Given the description of an element on the screen output the (x, y) to click on. 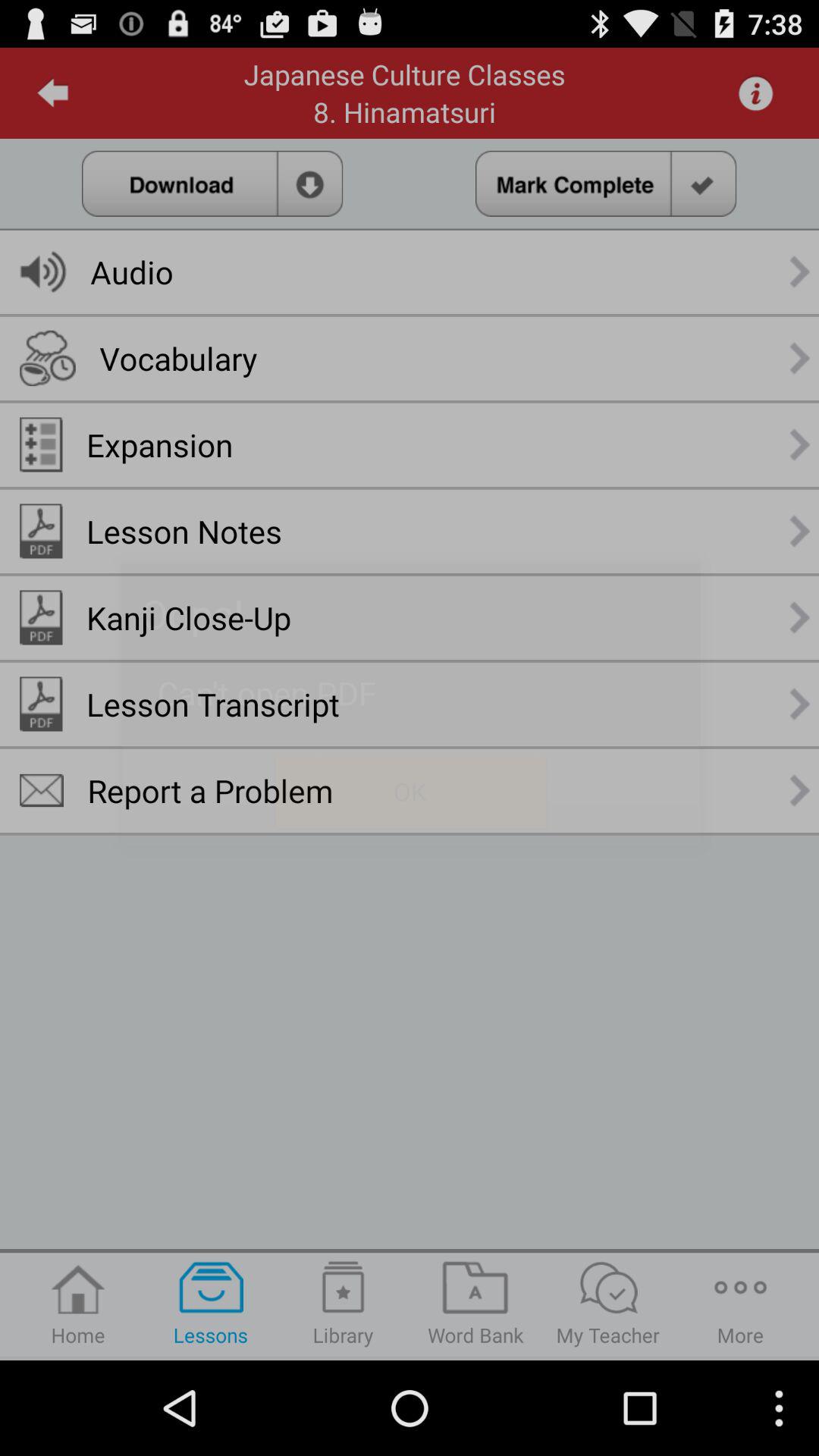
open app below lesson notes icon (188, 617)
